Given the description of an element on the screen output the (x, y) to click on. 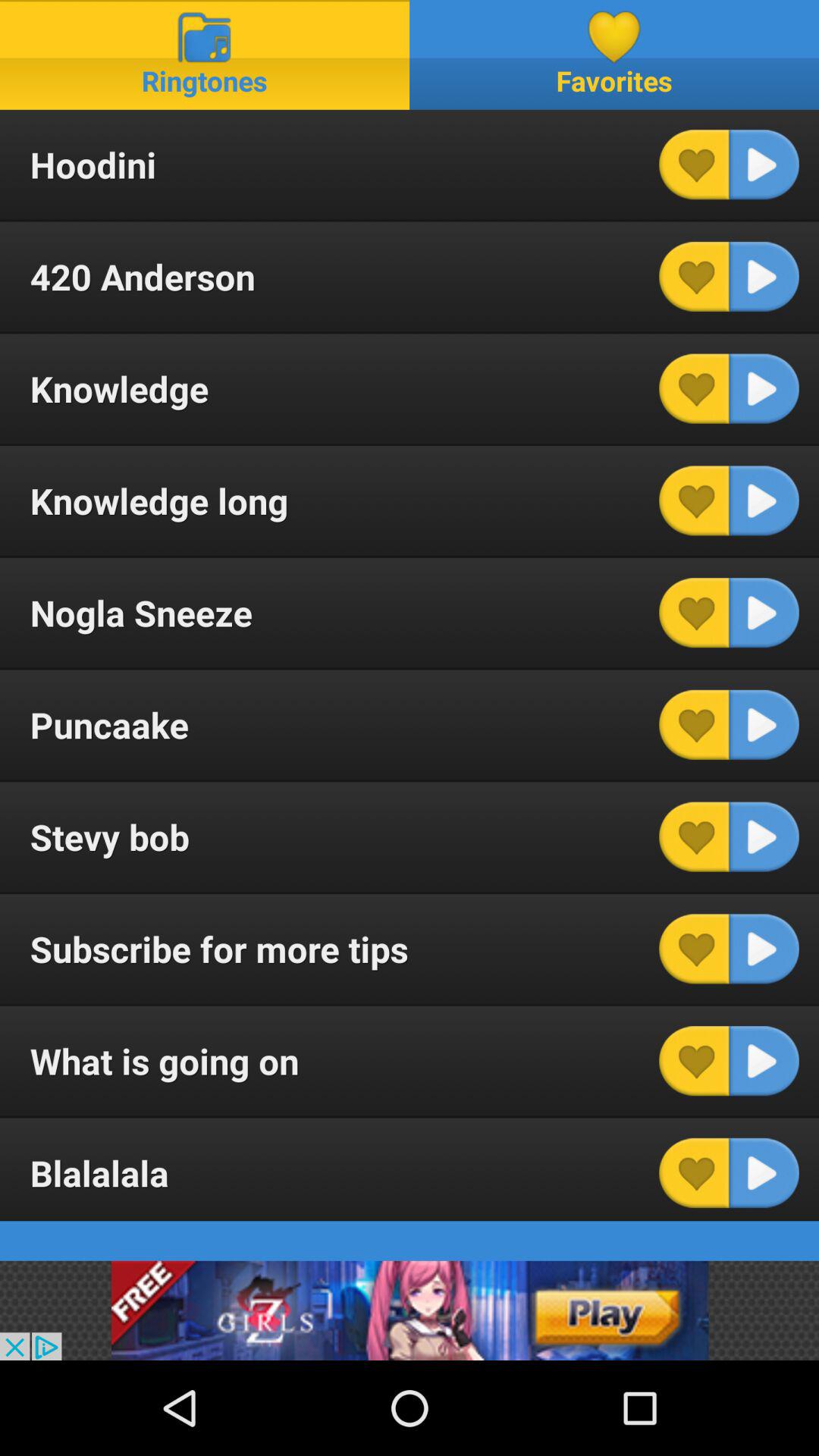
like button (694, 500)
